Given the description of an element on the screen output the (x, y) to click on. 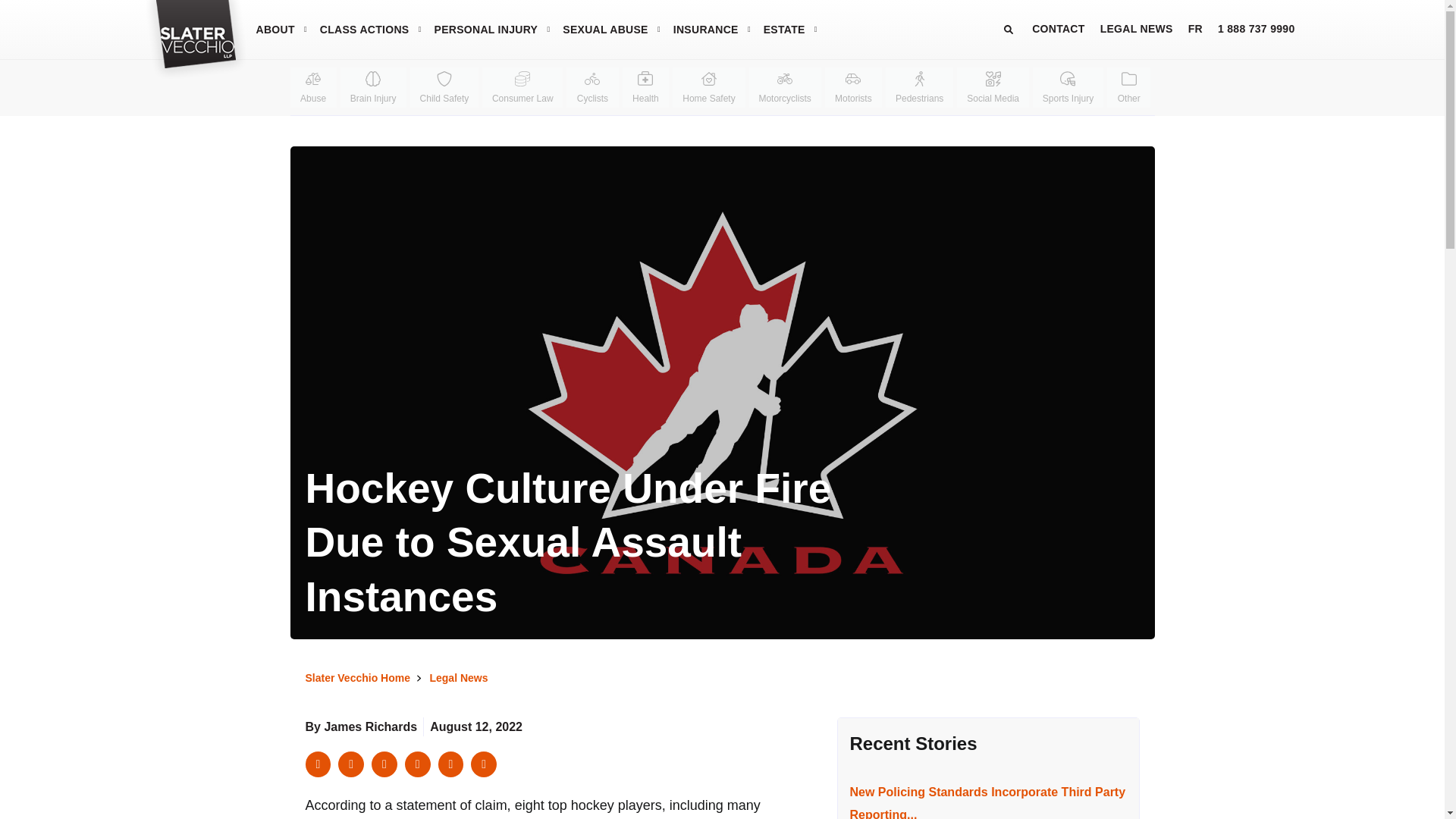
PERSONAL INJURY (485, 28)
SEXUAL ABUSE (604, 28)
CLASS ACTIONS (364, 28)
ABOUT (275, 28)
INSURANCE (705, 28)
